Given the description of an element on the screen output the (x, y) to click on. 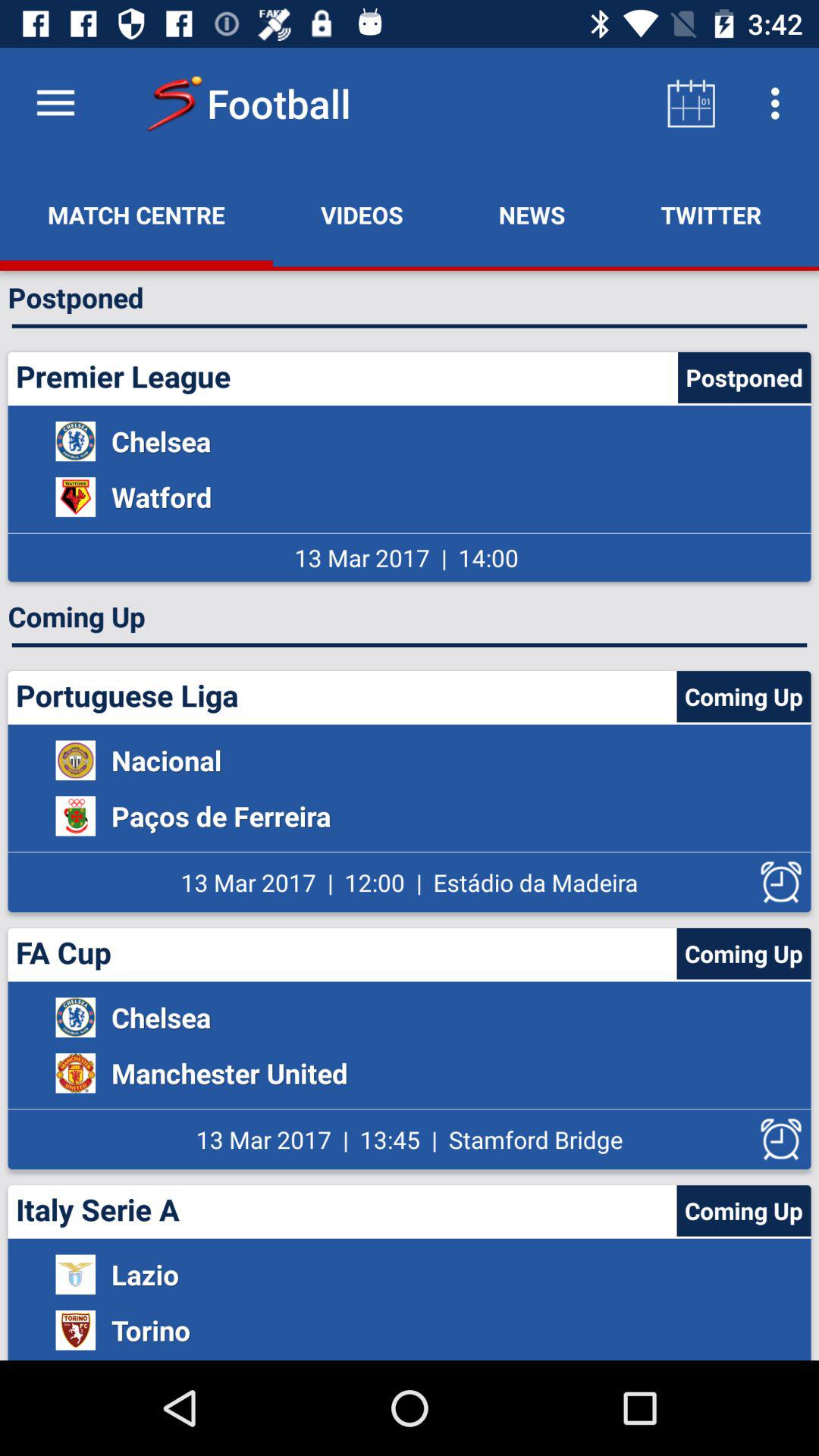
choose chat (814, 214)
